Given the description of an element on the screen output the (x, y) to click on. 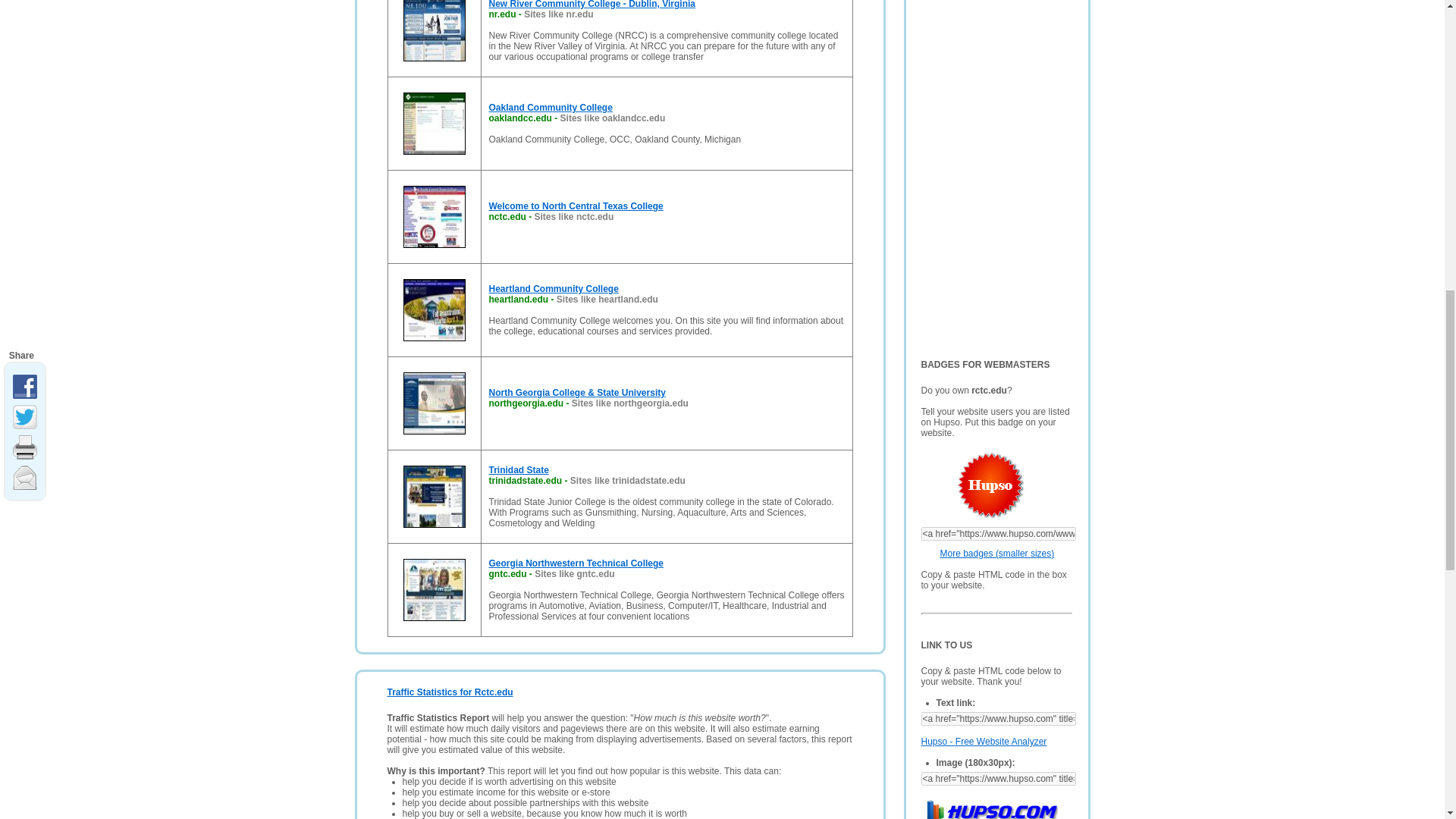
Welcome to North Central Texas College (574, 205)
Rctc.edu is listed on Hupso (973, 486)
Hupso - Free Website Analyzer (988, 807)
Hupso - Free Website Analyzer (983, 741)
New River Community College - Dublin, Virginia (590, 4)
Sites like oaklandcc.edu (612, 118)
Sites like nctc.edu (574, 216)
Sites like nr.edu (558, 14)
Sites like northgeorgia.edu (630, 403)
Heartland Community College (552, 288)
Sites like heartland.edu (607, 299)
Oakland Community College (549, 107)
Hupso - Free Website Analyzer (983, 741)
Advertisement (994, 164)
